Given the description of an element on the screen output the (x, y) to click on. 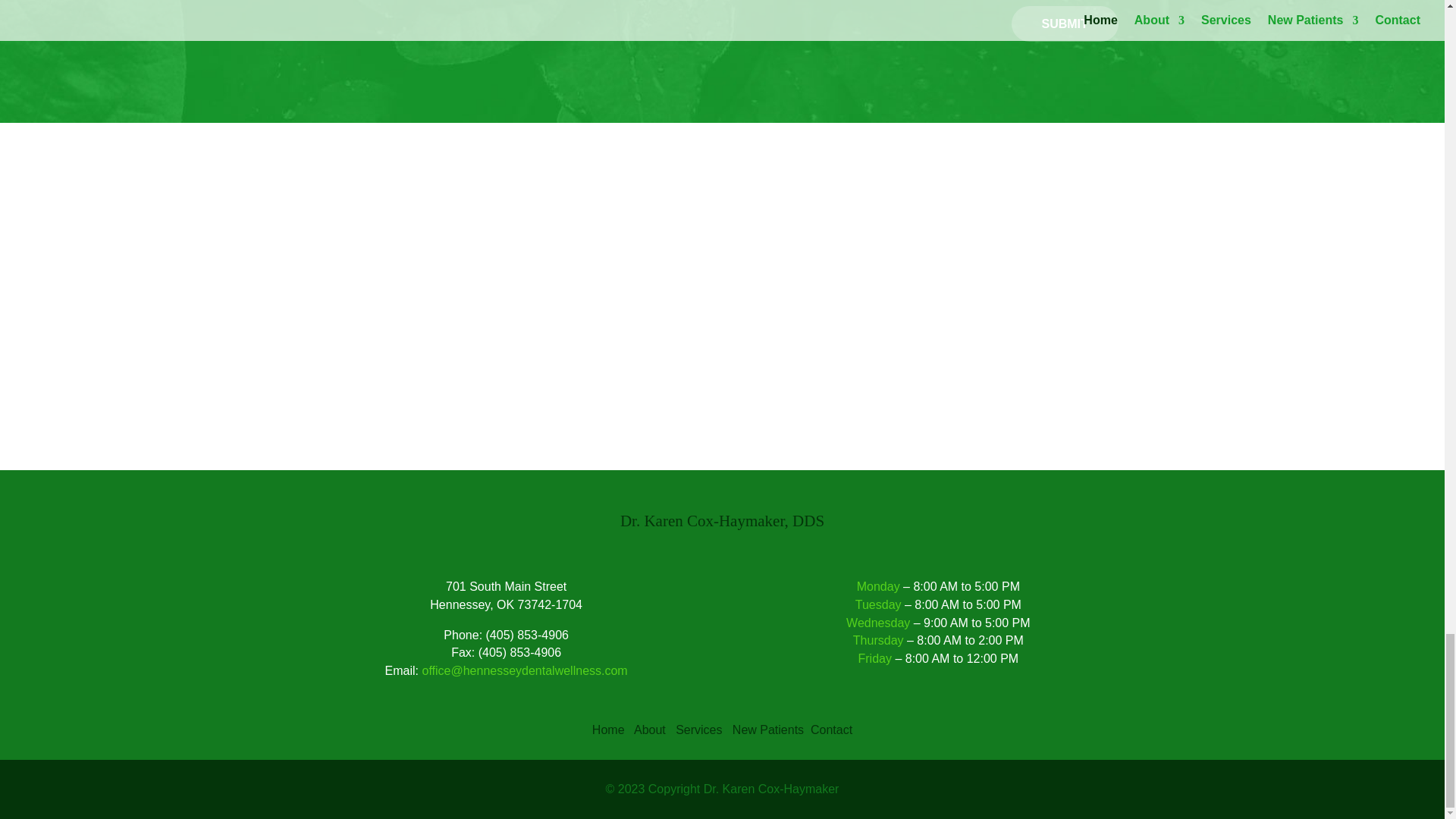
About (649, 729)
Services (698, 729)
SUBMIT (1064, 23)
Contact (830, 729)
Home (608, 729)
New Patients (767, 729)
